Given the description of an element on the screen output the (x, y) to click on. 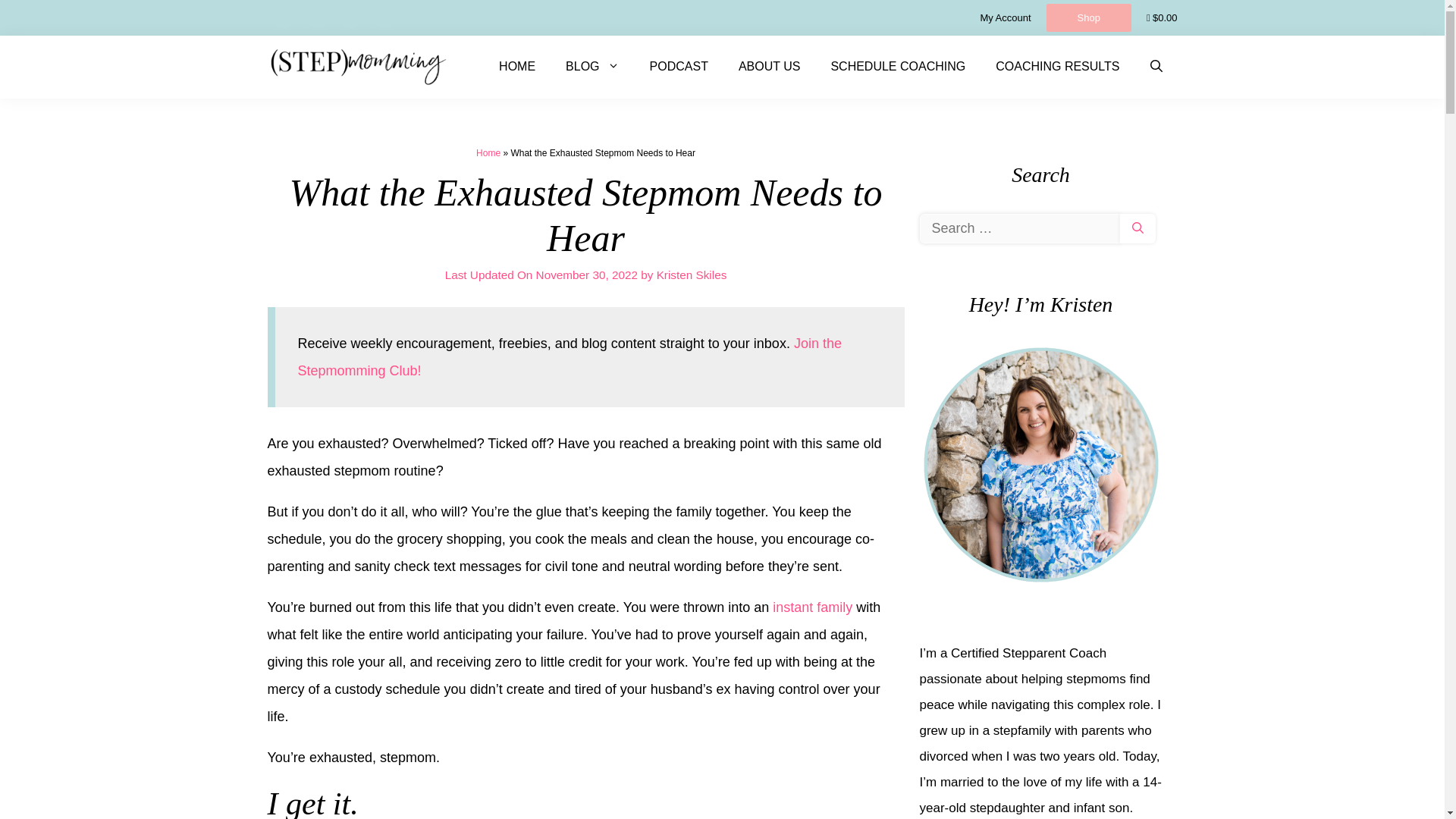
My Account (1004, 17)
Start shopping (1162, 17)
Search for: (1018, 228)
View all posts by Kristen Skiles (691, 274)
BLOG (591, 66)
HOME (516, 66)
Shop (1088, 17)
Stepmomming.com: resources and coaching for stepmoms (357, 66)
